Given the description of an element on the screen output the (x, y) to click on. 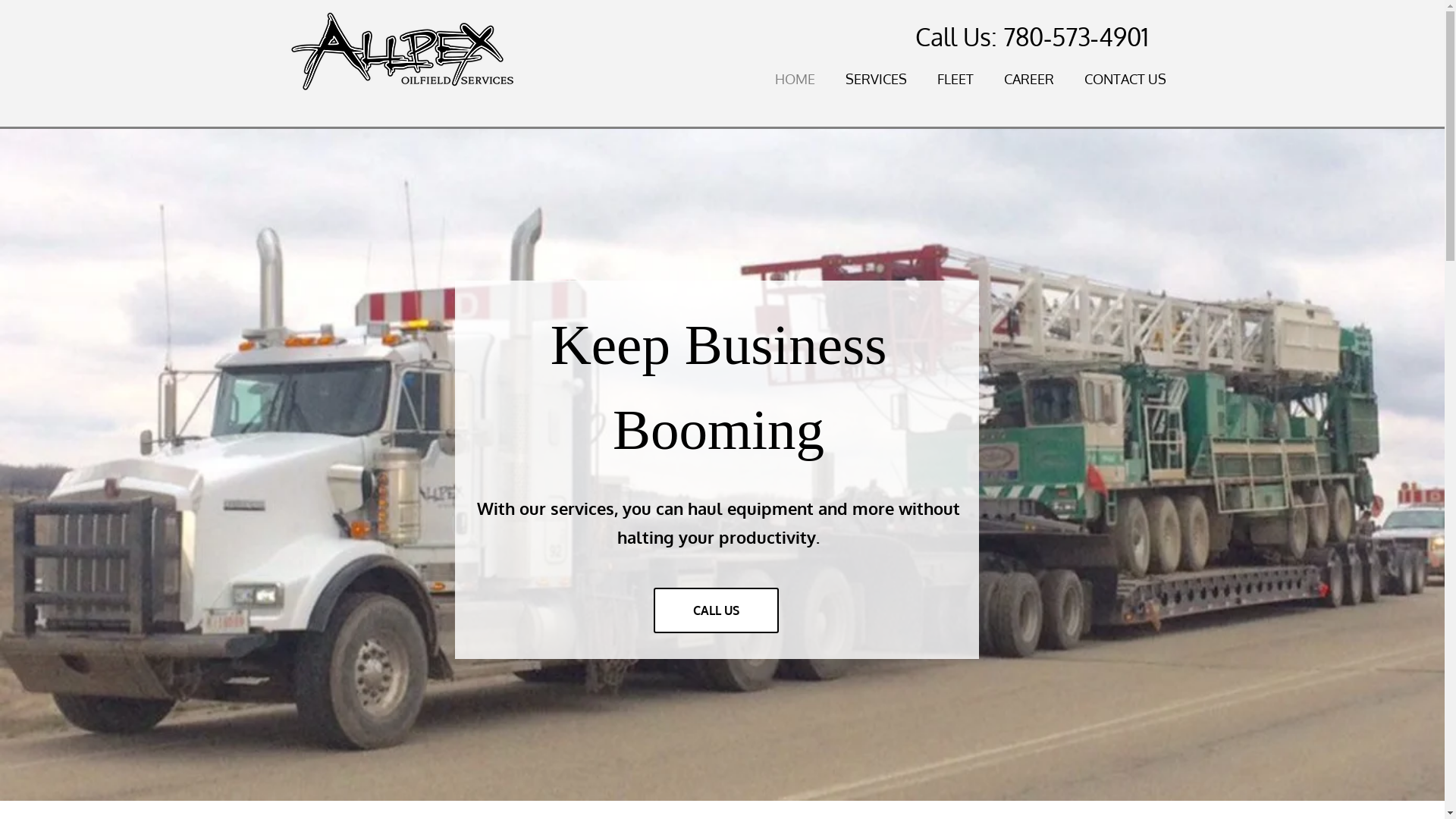
CONTACT US Element type: text (1110, 78)
HOME Element type: text (779, 78)
CAREER Element type: text (1013, 78)
FLEET Element type: text (939, 78)
CALL US Element type: text (715, 609)
SERVICES Element type: text (860, 78)
